Given the description of an element on the screen output the (x, y) to click on. 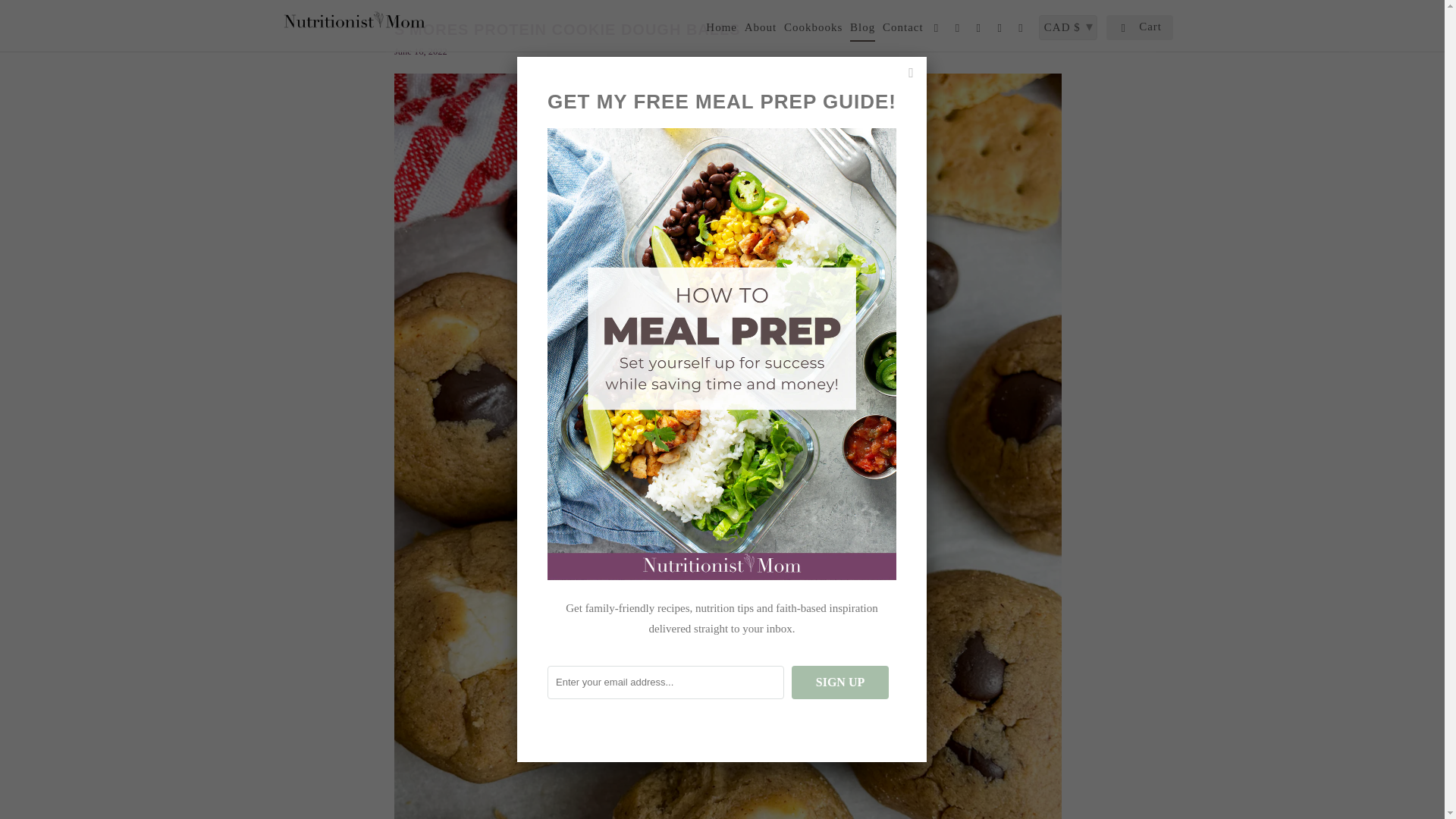
Sign Up (840, 682)
